Given the description of an element on the screen output the (x, y) to click on. 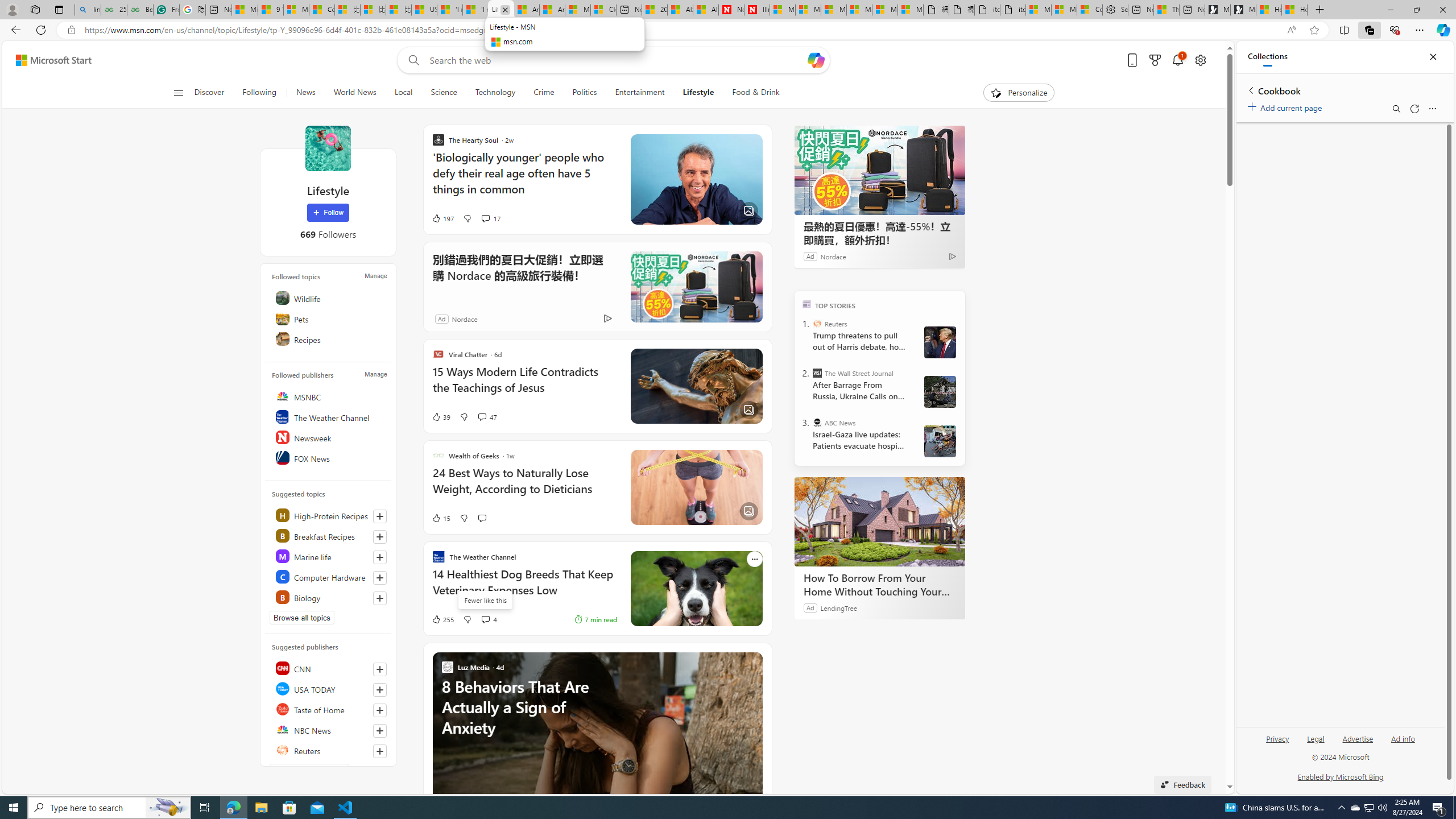
Entertainment (639, 92)
Technology (494, 92)
Newsweek - News, Analysis, Politics, Business, Technology (730, 9)
Manage (375, 374)
Browse all publishers (309, 770)
USA TODAY (328, 688)
MSNBC (328, 396)
Browse all topics (301, 617)
197 Like (442, 218)
Open Copilot (816, 59)
39 Like (440, 416)
